Given the description of an element on the screen output the (x, y) to click on. 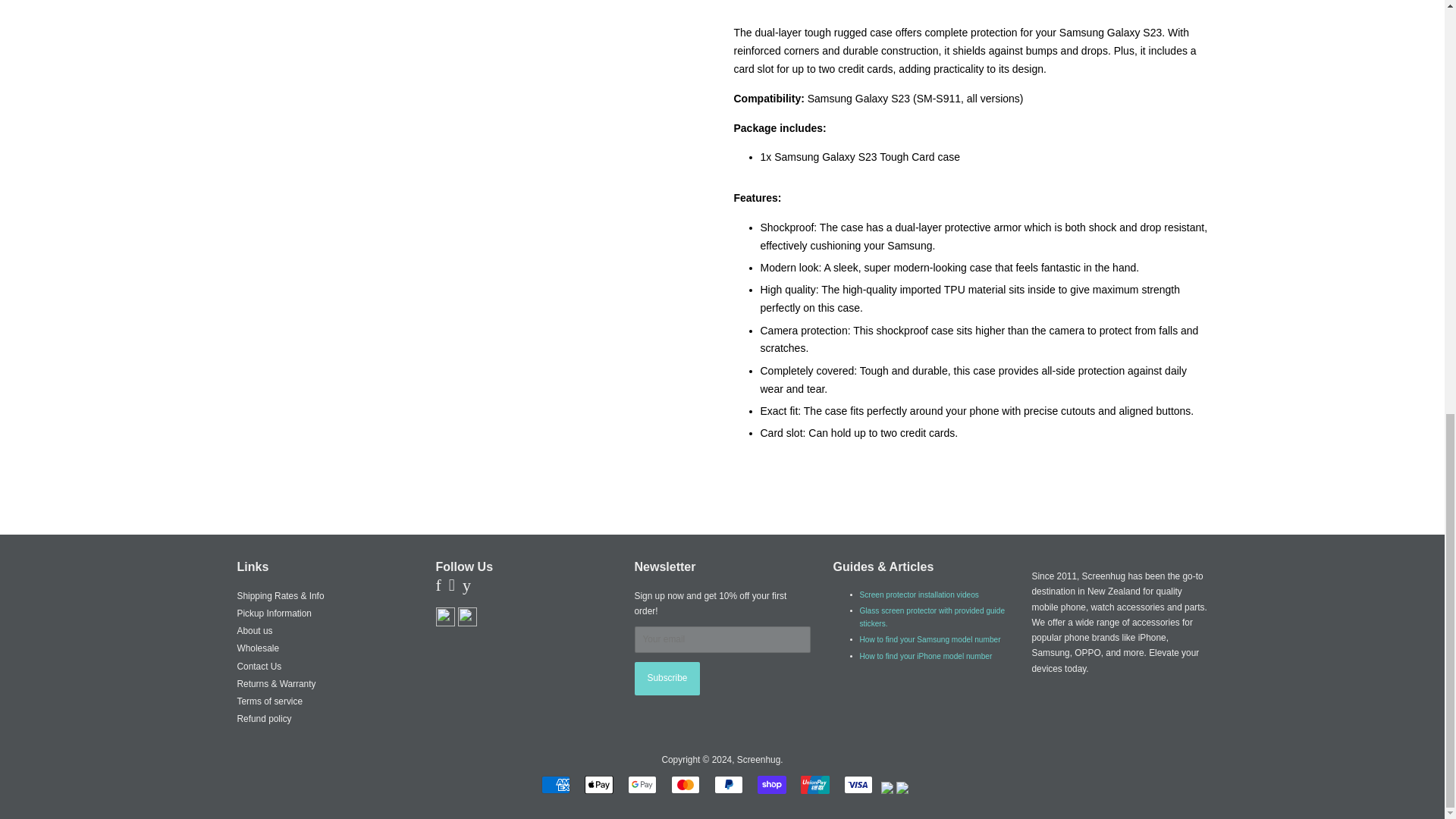
Apple Pay (598, 784)
Mastercard (685, 784)
PayPal (728, 784)
Visa (858, 784)
American Express (555, 784)
Shop Pay (771, 784)
Google Pay (641, 784)
Subscribe (666, 678)
Union Pay (814, 784)
